Given the description of an element on the screen output the (x, y) to click on. 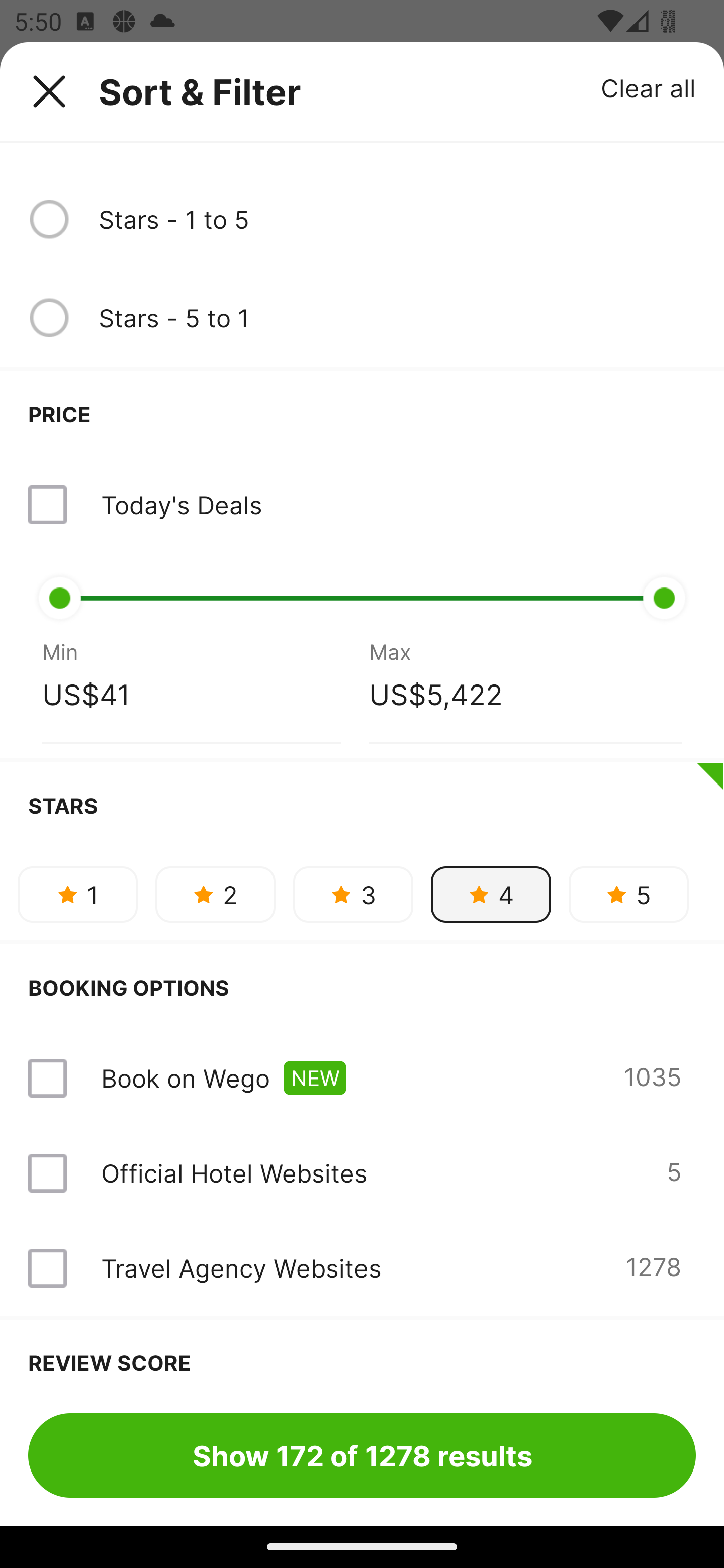
Clear all (648, 87)
Stars - 1 to 5 (396, 219)
Stars - 5 to 1 (396, 317)
Today's Deals (362, 504)
Today's Deals (181, 504)
1 (77, 894)
2 (214, 894)
3 (352, 894)
4 (491, 894)
5 (627, 894)
Book on Wego NEW 1035 (362, 1077)
Book on Wego (184, 1077)
Official Hotel Websites 5 (362, 1173)
Official Hotel Websites (233, 1172)
Travel Agency Websites 1278 (362, 1268)
Travel Agency Websites (240, 1267)
Show 172 of 1278 results (361, 1454)
